Given the description of an element on the screen output the (x, y) to click on. 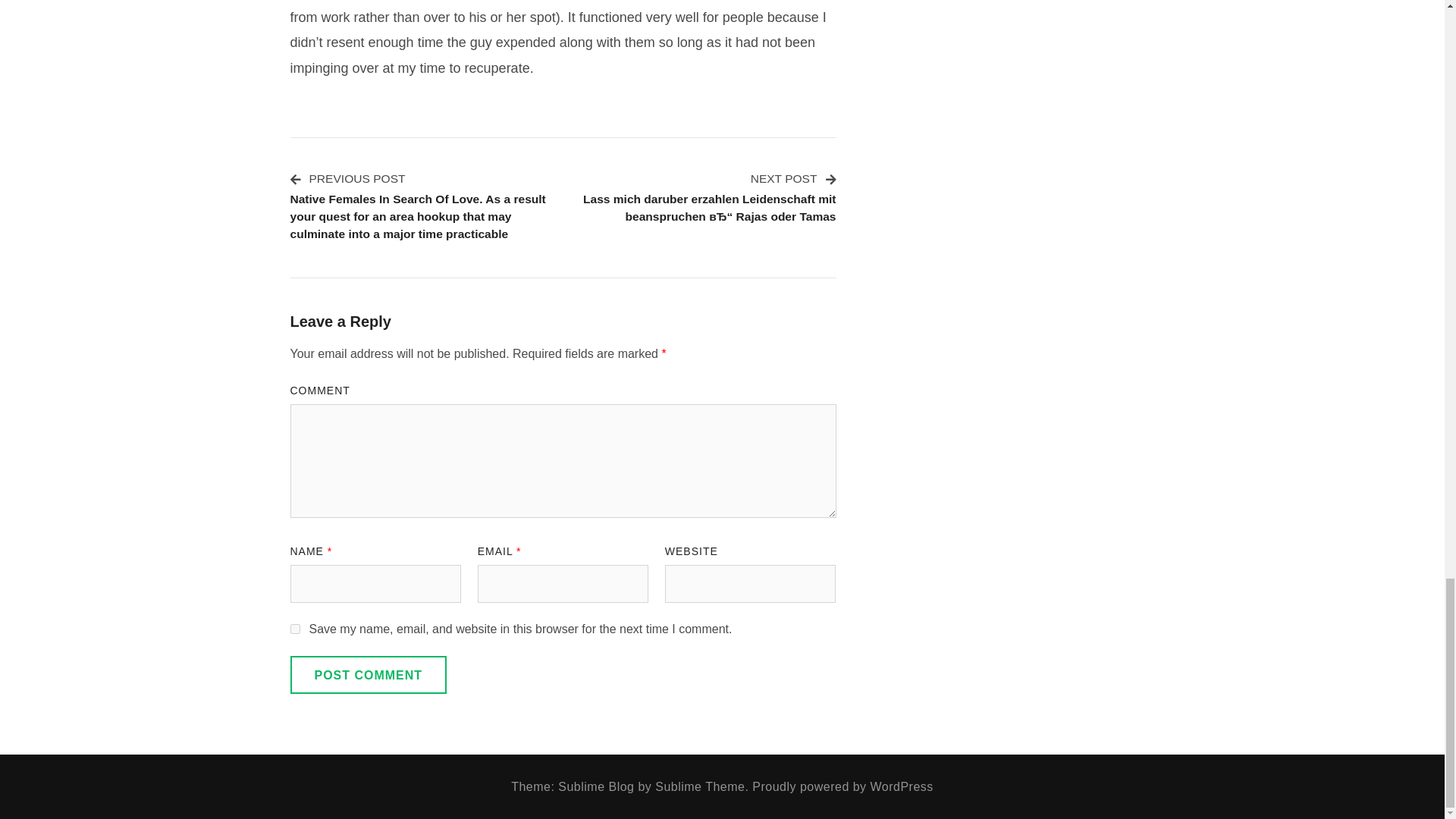
Post Comment (367, 674)
yes (294, 628)
Sublime Theme (699, 786)
Post Comment (367, 674)
Proudly powered by WordPress (842, 786)
